Given the description of an element on the screen output the (x, y) to click on. 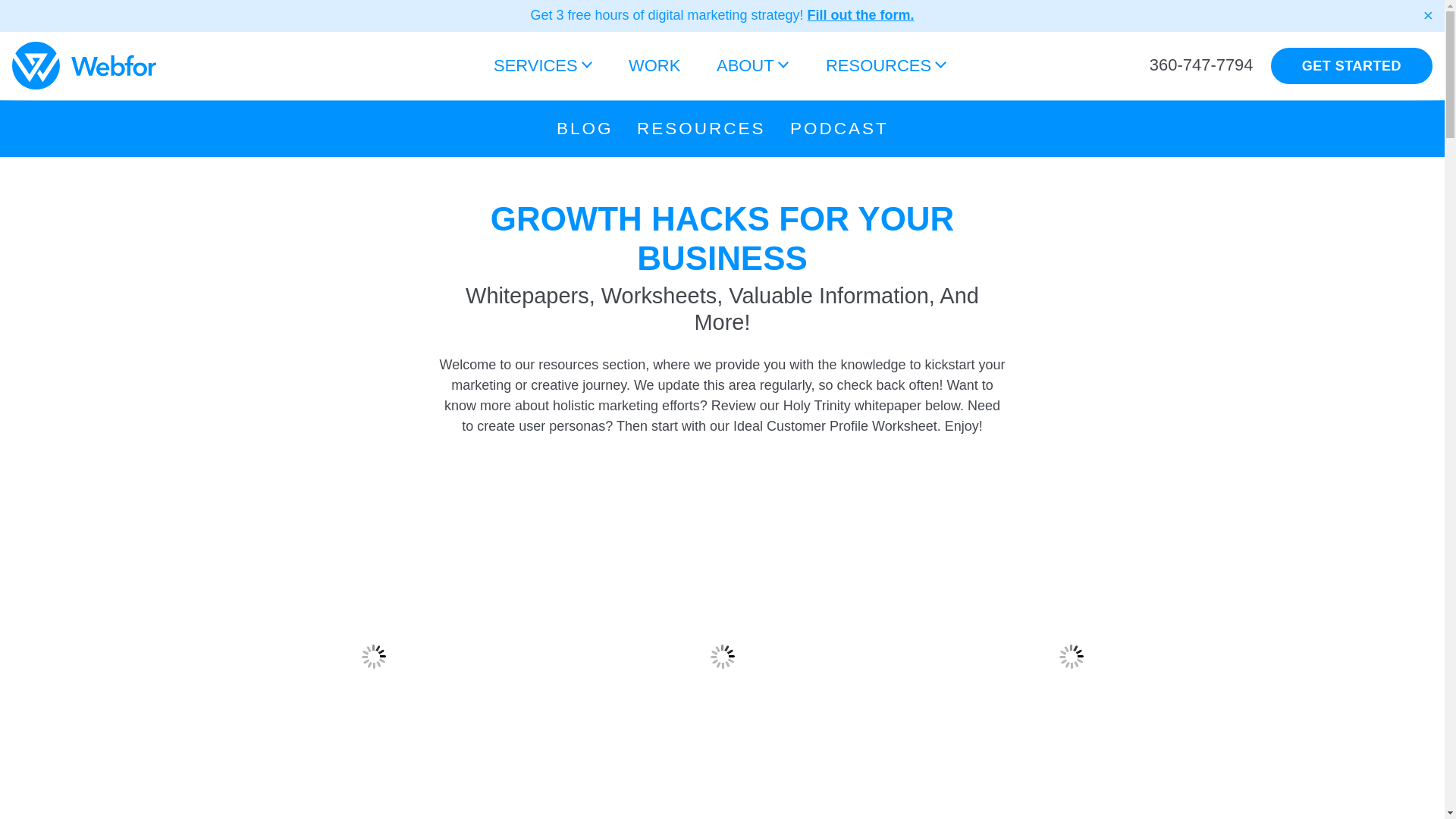
SERVICES (543, 65)
Fill out the form. (861, 14)
About (752, 65)
WORK (654, 65)
Services (543, 65)
ABOUT (752, 65)
Work (654, 65)
RESOURCES (700, 128)
360-747-7794 (1201, 64)
BLOG (585, 128)
